Given the description of an element on the screen output the (x, y) to click on. 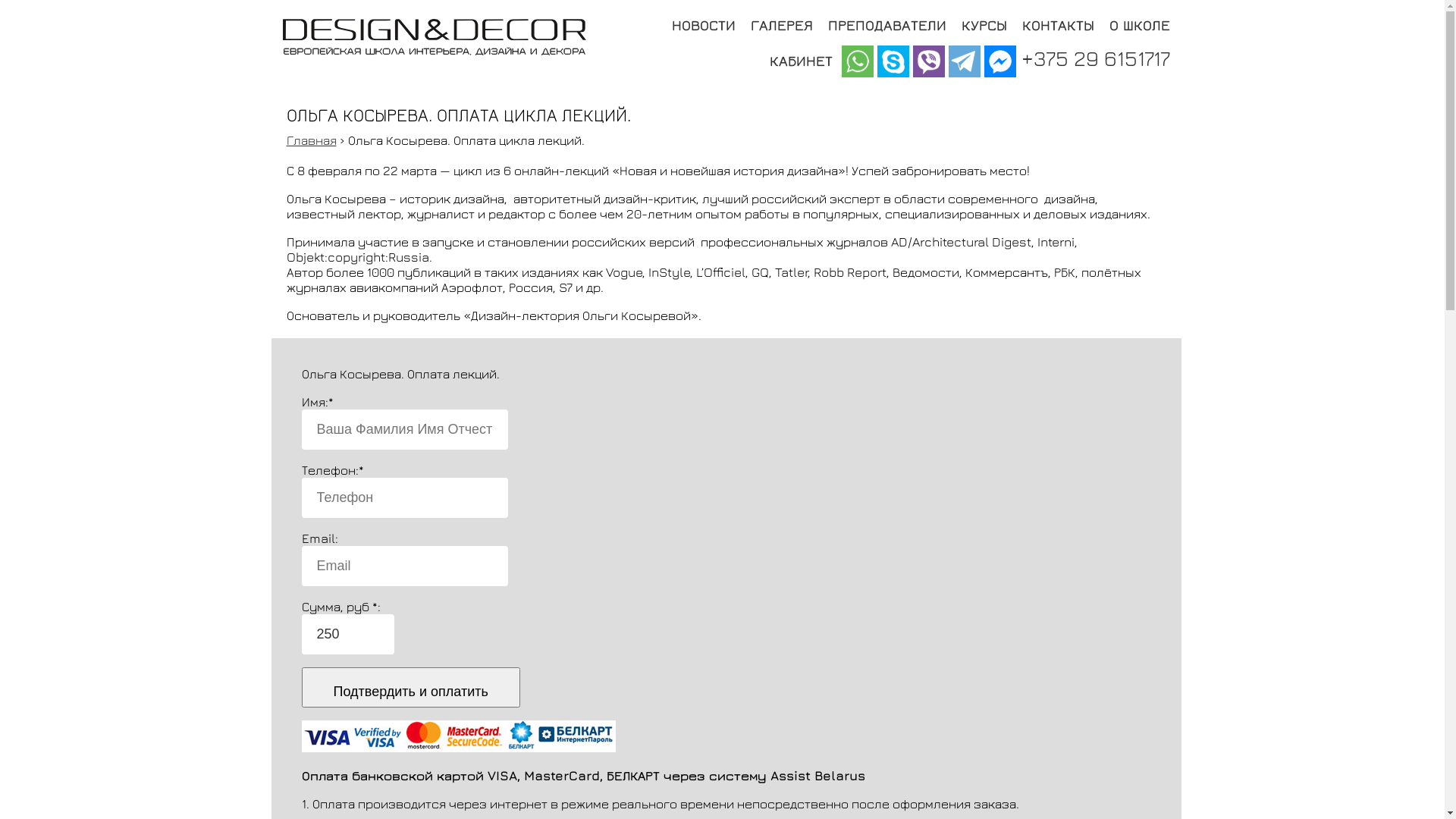
+375 29 6151717 Element type: text (1094, 57)
